Given the description of an element on the screen output the (x, y) to click on. 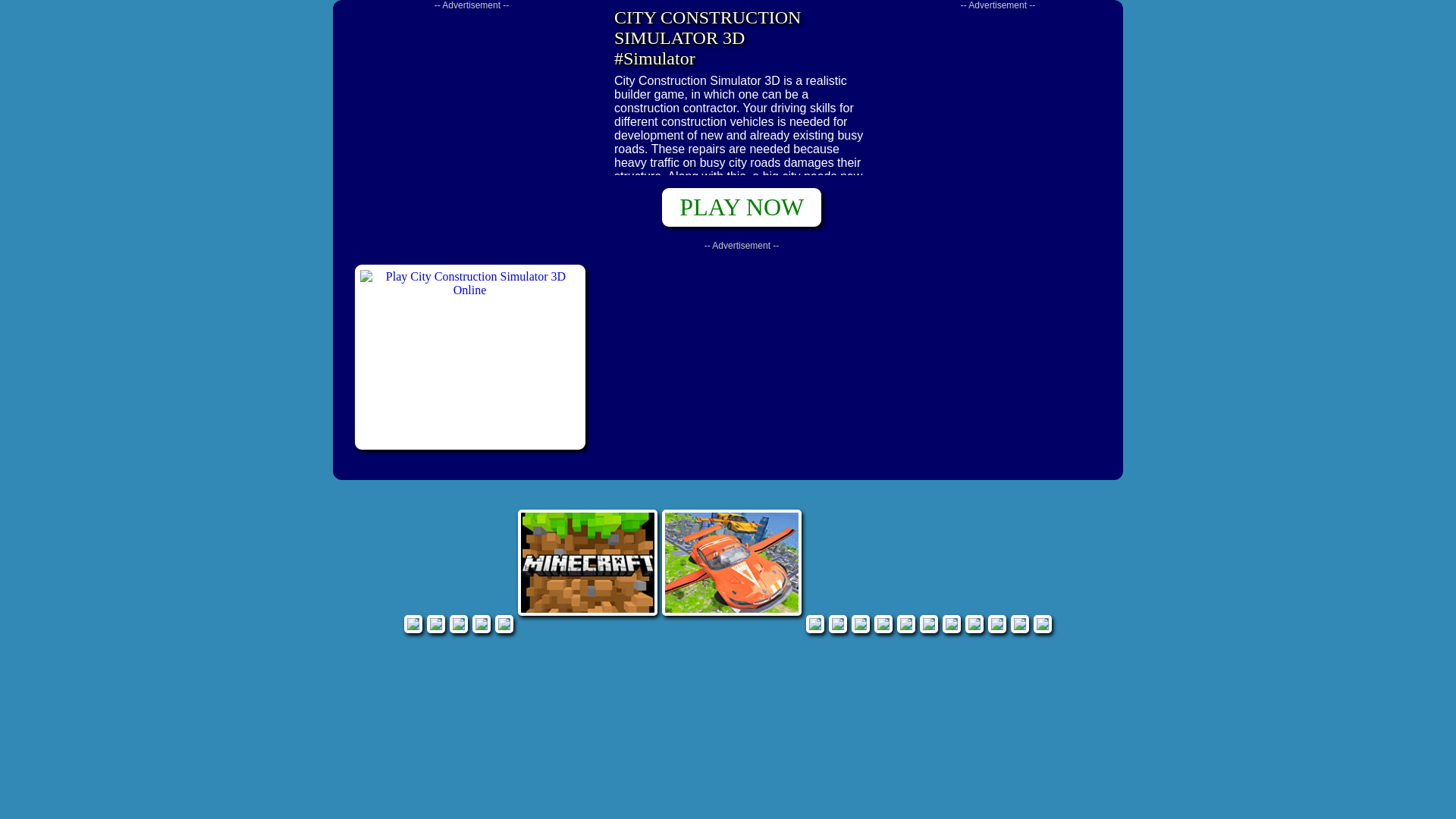
  PLAY NOW   (741, 207)
Play City Construction Simulator 3D (470, 356)
